Given the description of an element on the screen output the (x, y) to click on. 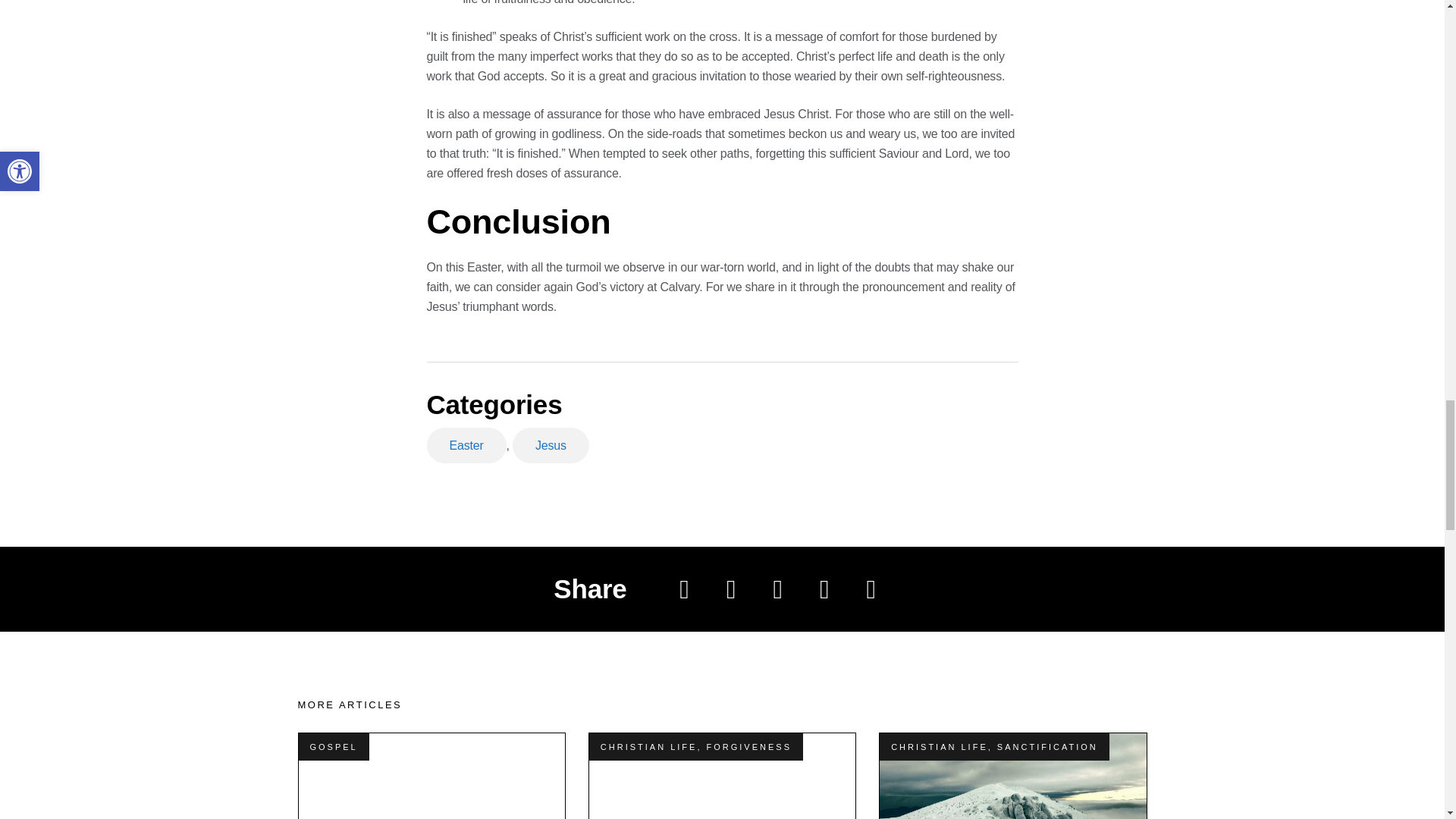
CHRISTIAN LIFE (939, 746)
Easter (465, 445)
CHRISTIAN LIFE (648, 746)
SANCTIFICATION (1047, 746)
FORGIVENESS (749, 746)
Jesus (550, 445)
MORE ARTICLES (349, 704)
GOSPEL (332, 746)
